Given the description of an element on the screen output the (x, y) to click on. 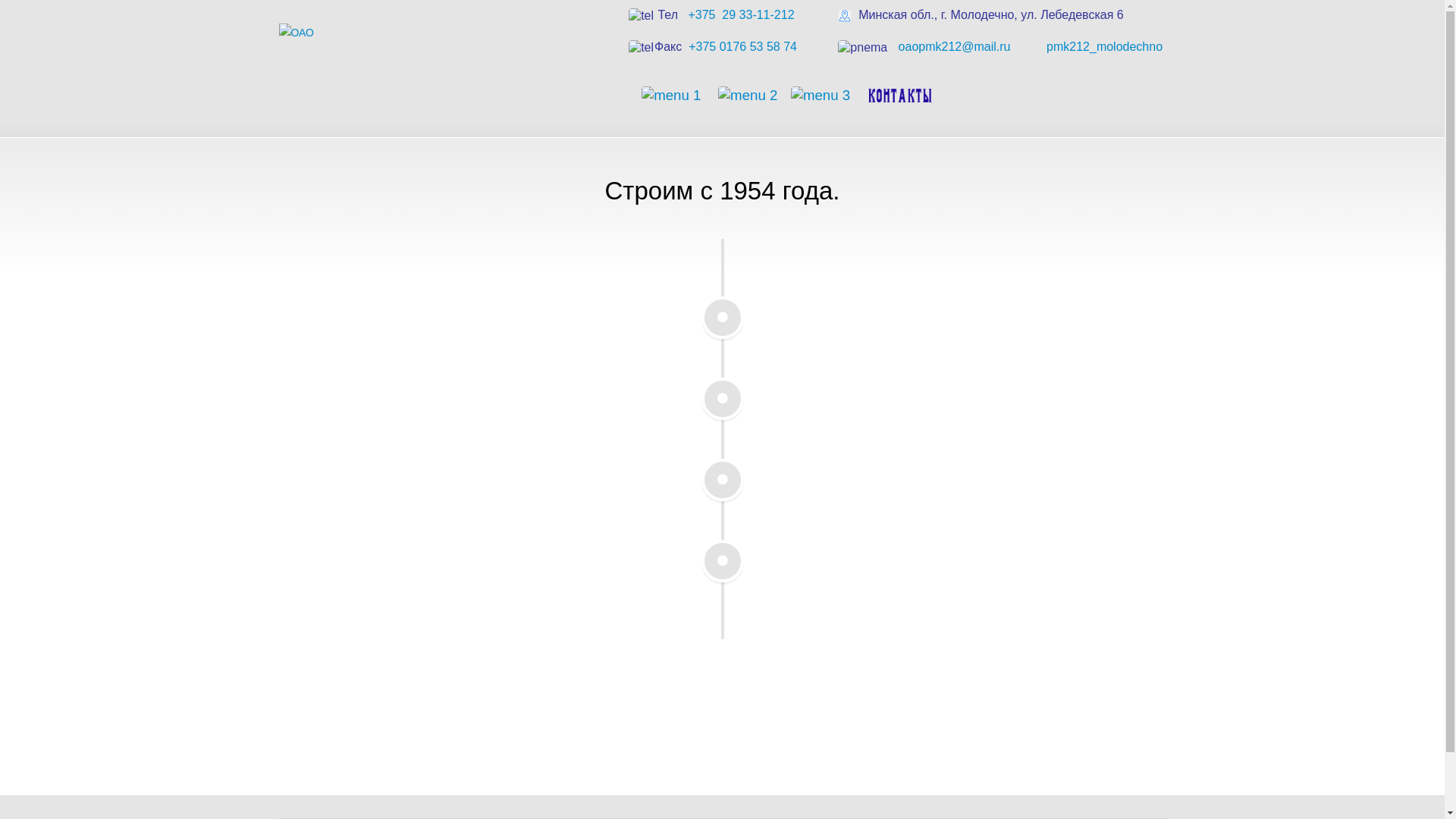
+375  29 33-11-212  Element type: text (743, 14)
oaopmk212@mail.ru  Element type: text (957, 46)
pmk212_molodechno  Element type: text (1105, 46)
+375 0176 53 58 74  Element type: text (744, 46)
